Given the description of an element on the screen output the (x, y) to click on. 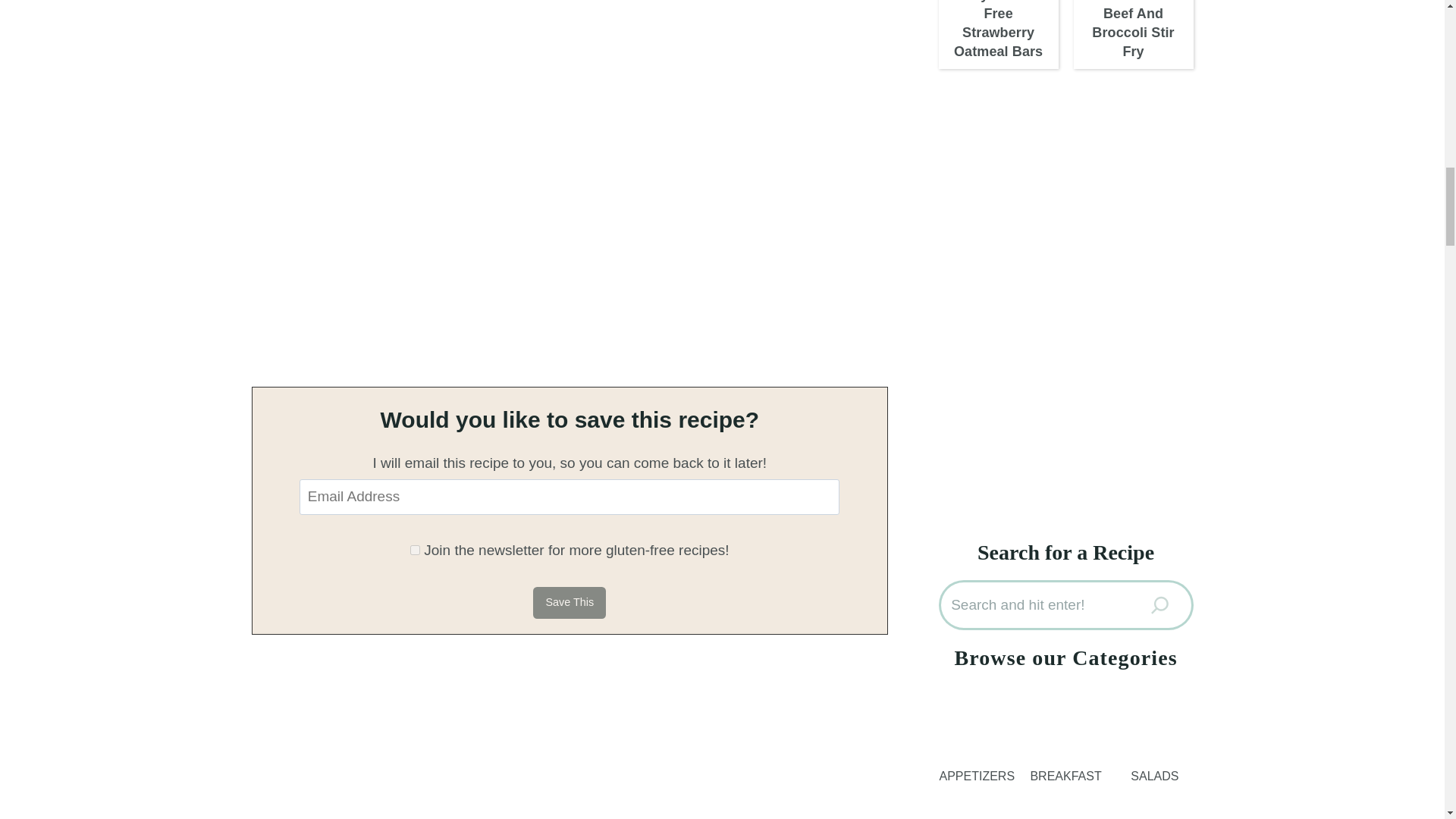
Save This (568, 603)
Save This (568, 603)
1 (415, 550)
